Given the description of an element on the screen output the (x, y) to click on. 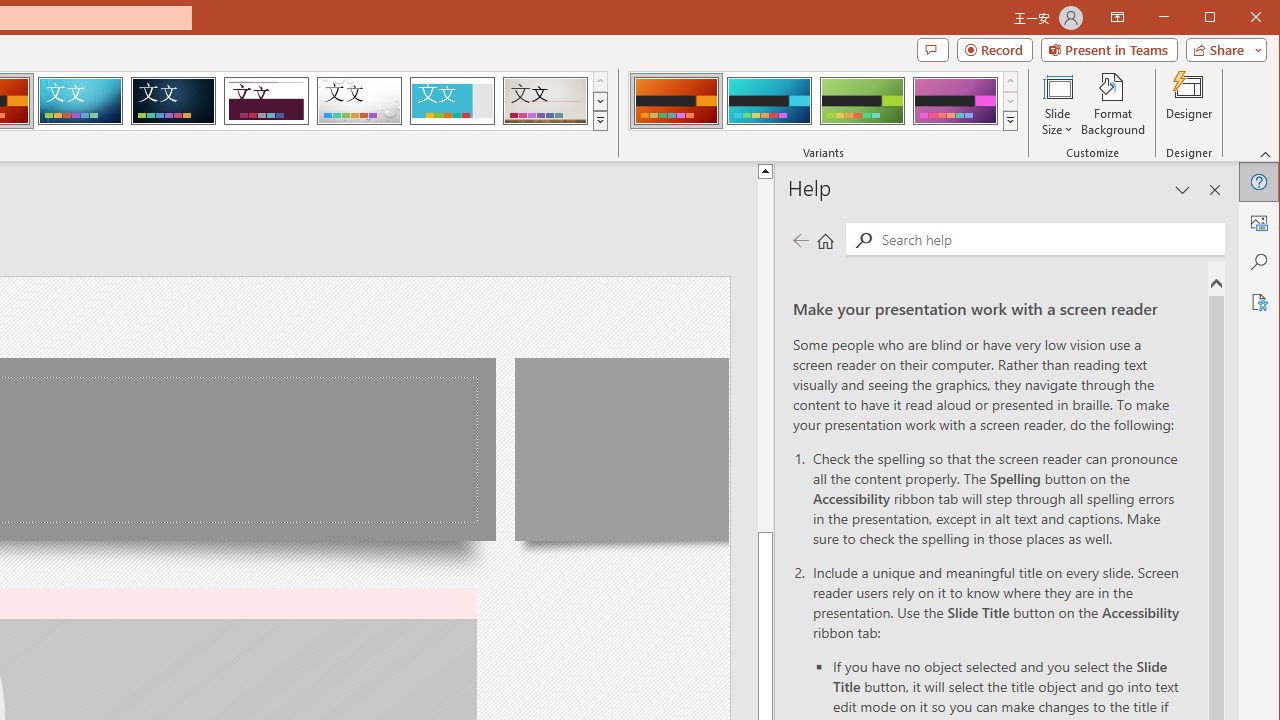
Berlin Variant 1 (676, 100)
Berlin Variant 2 (769, 100)
Dividend (266, 100)
